Given the description of an element on the screen output the (x, y) to click on. 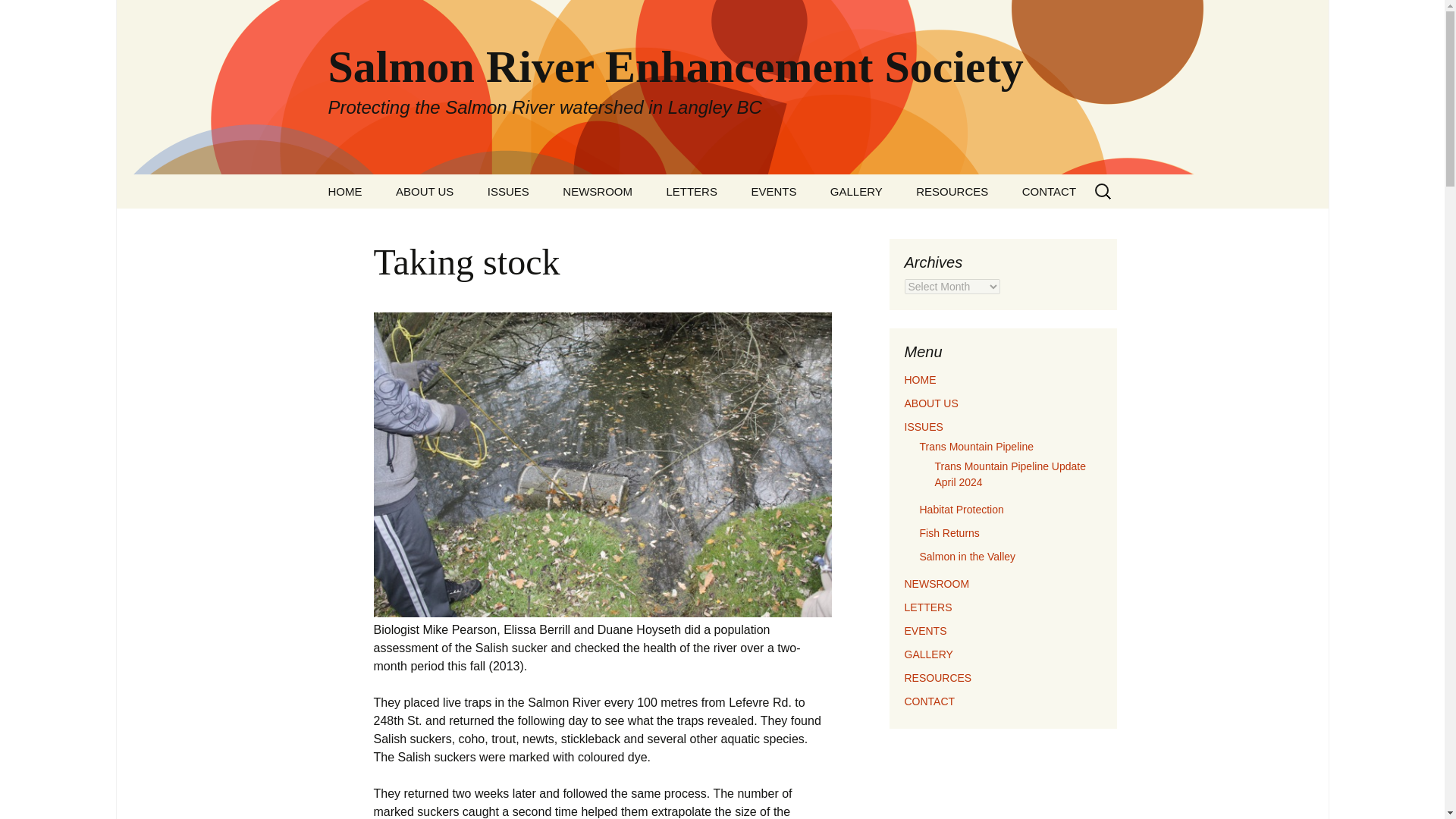
GALLERY (856, 191)
ABOUT US (931, 403)
CONTACT (929, 701)
HOME (345, 191)
ISSUES (923, 426)
NEWSROOM (597, 191)
Trans Mountain Pipeline Update April 2024 (1010, 474)
Trans Mountain Pipeline (547, 230)
EVENTS (925, 630)
ISSUES (507, 191)
Fish Returns (948, 532)
Search (34, 15)
Habitat Protection (960, 509)
